Given the description of an element on the screen output the (x, y) to click on. 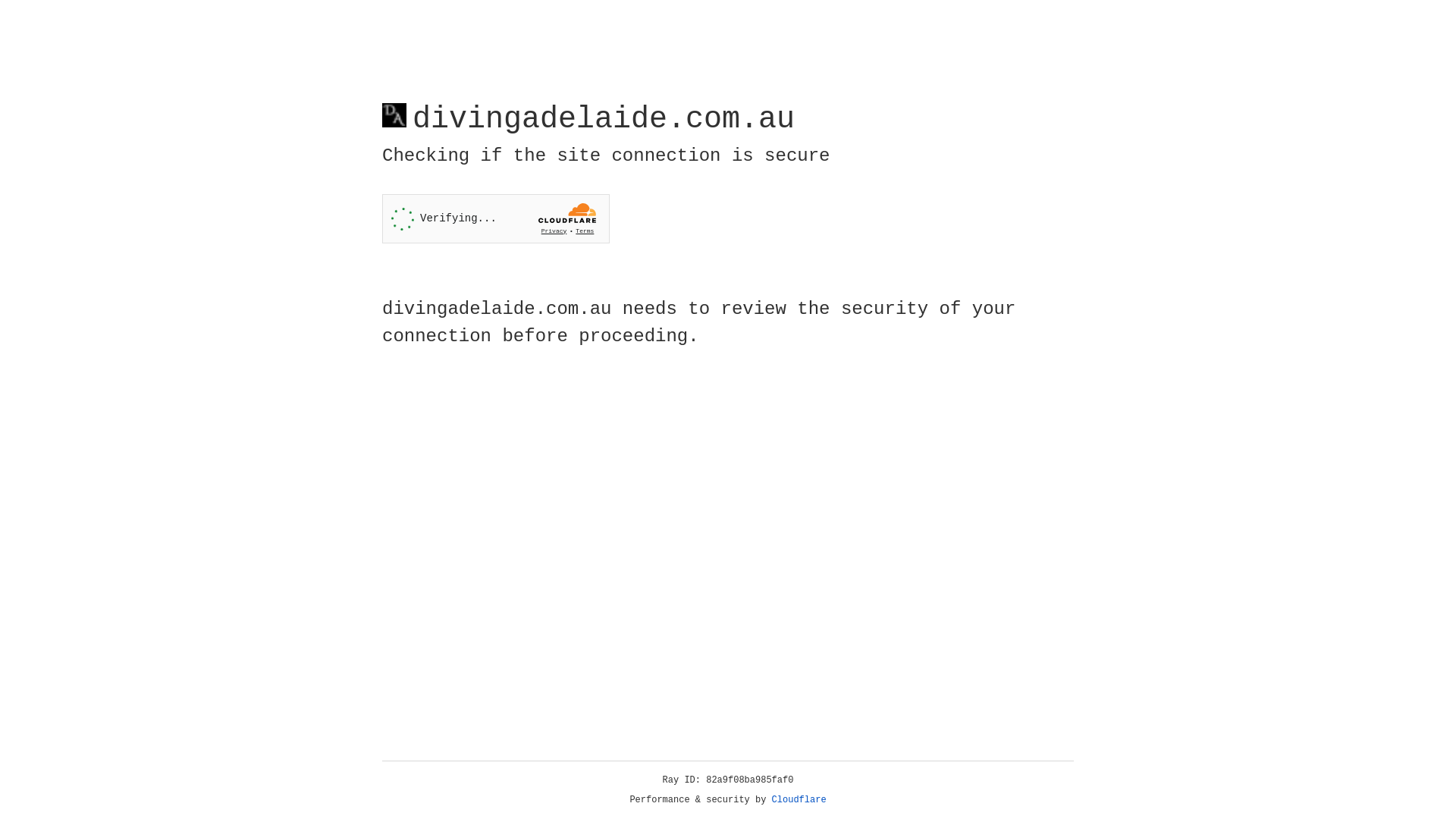
Cloudflare Element type: text (798, 799)
Widget containing a Cloudflare security challenge Element type: hover (495, 218)
